Given the description of an element on the screen output the (x, y) to click on. 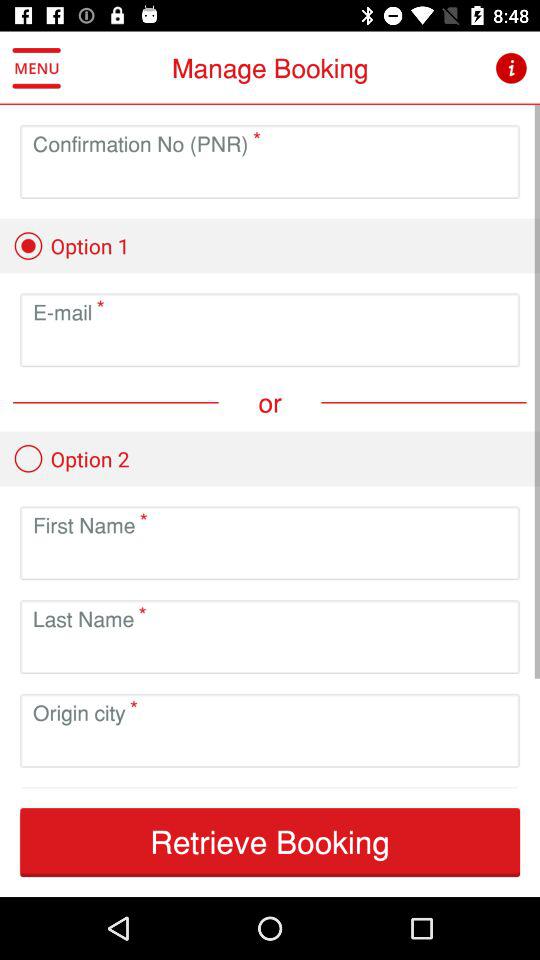
launch the option 2 item (71, 458)
